Given the description of an element on the screen output the (x, y) to click on. 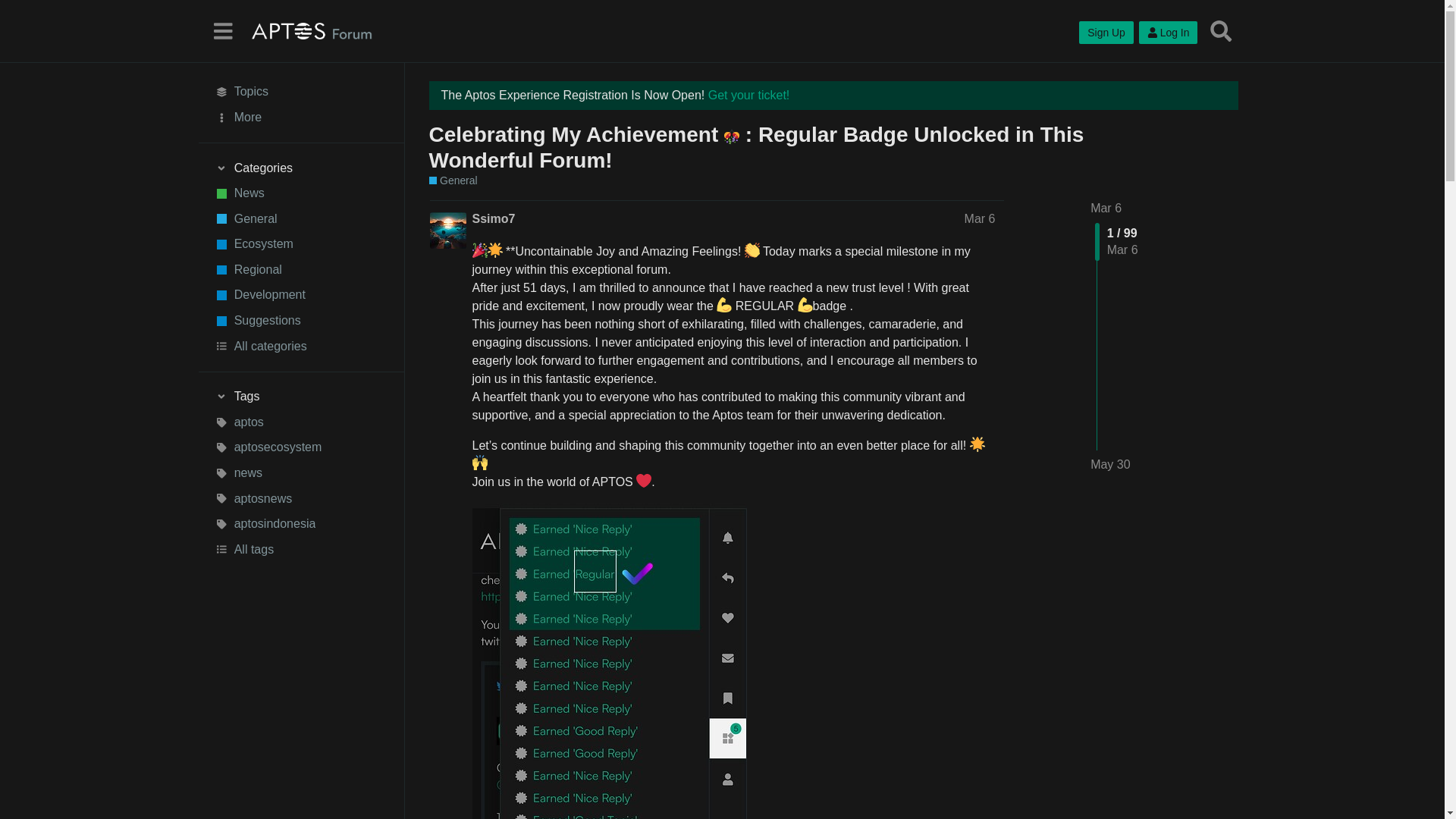
Categories (301, 167)
aptos (301, 421)
Sign Up (1105, 32)
Tags (301, 397)
Ecosystem (301, 244)
Toggle section (301, 397)
Toggle section (301, 167)
Search (1220, 30)
Sidebar (222, 30)
All topics (301, 92)
Regional (301, 269)
aptosecosystem (301, 447)
Mar 6 (1105, 207)
General (301, 218)
